Given the description of an element on the screen output the (x, y) to click on. 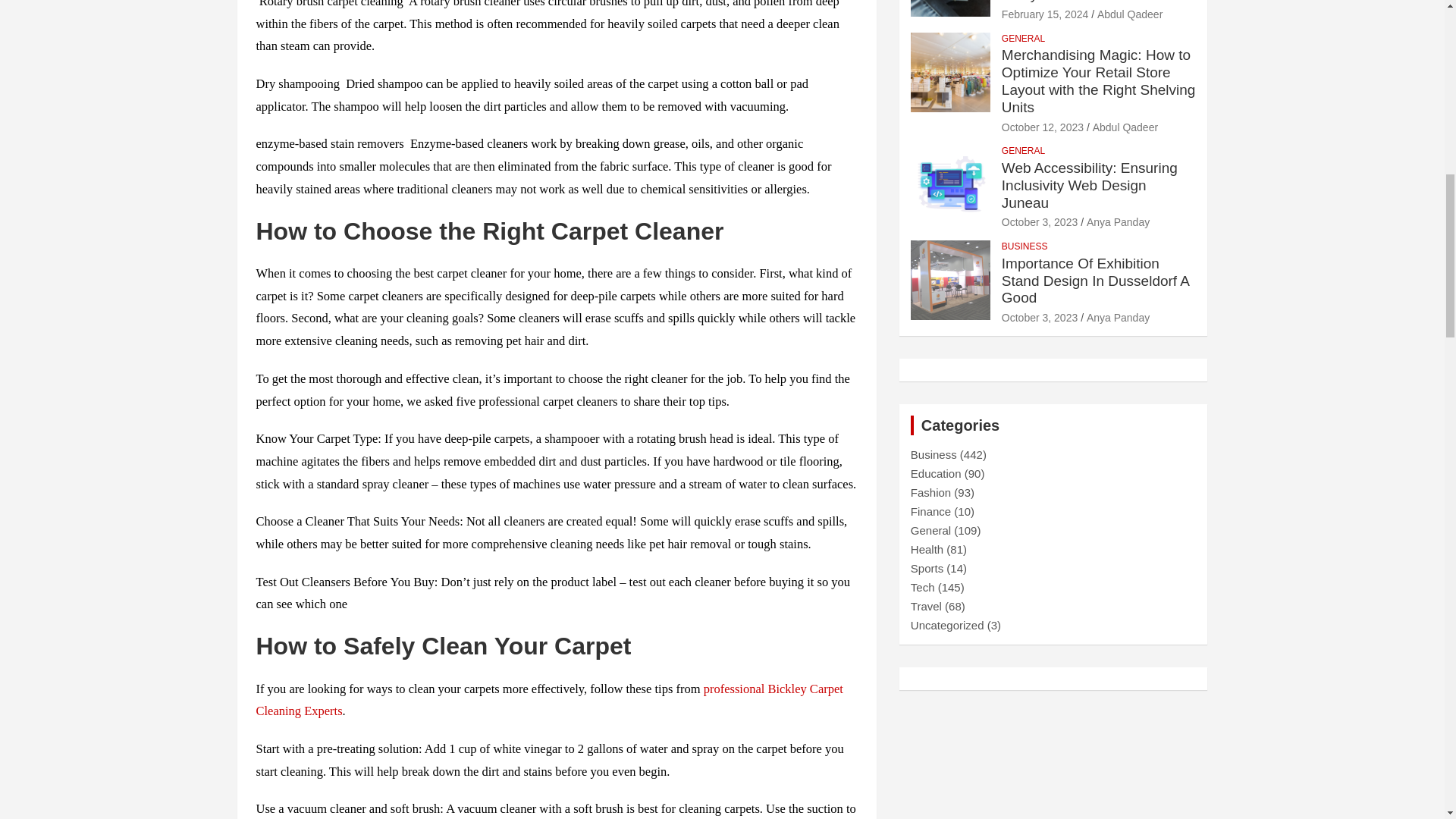
Importance Of Exhibition Stand Design In Dusseldorf A Good (1039, 317)
Revenue Sources in Banking Jobs: A Knowledgeable Analysis (1044, 14)
professional Bickley Carpet Cleaning Experts (549, 700)
Web Accessibility: Ensuring Inclusivity Web Design Juneau (1039, 222)
